Given the description of an element on the screen output the (x, y) to click on. 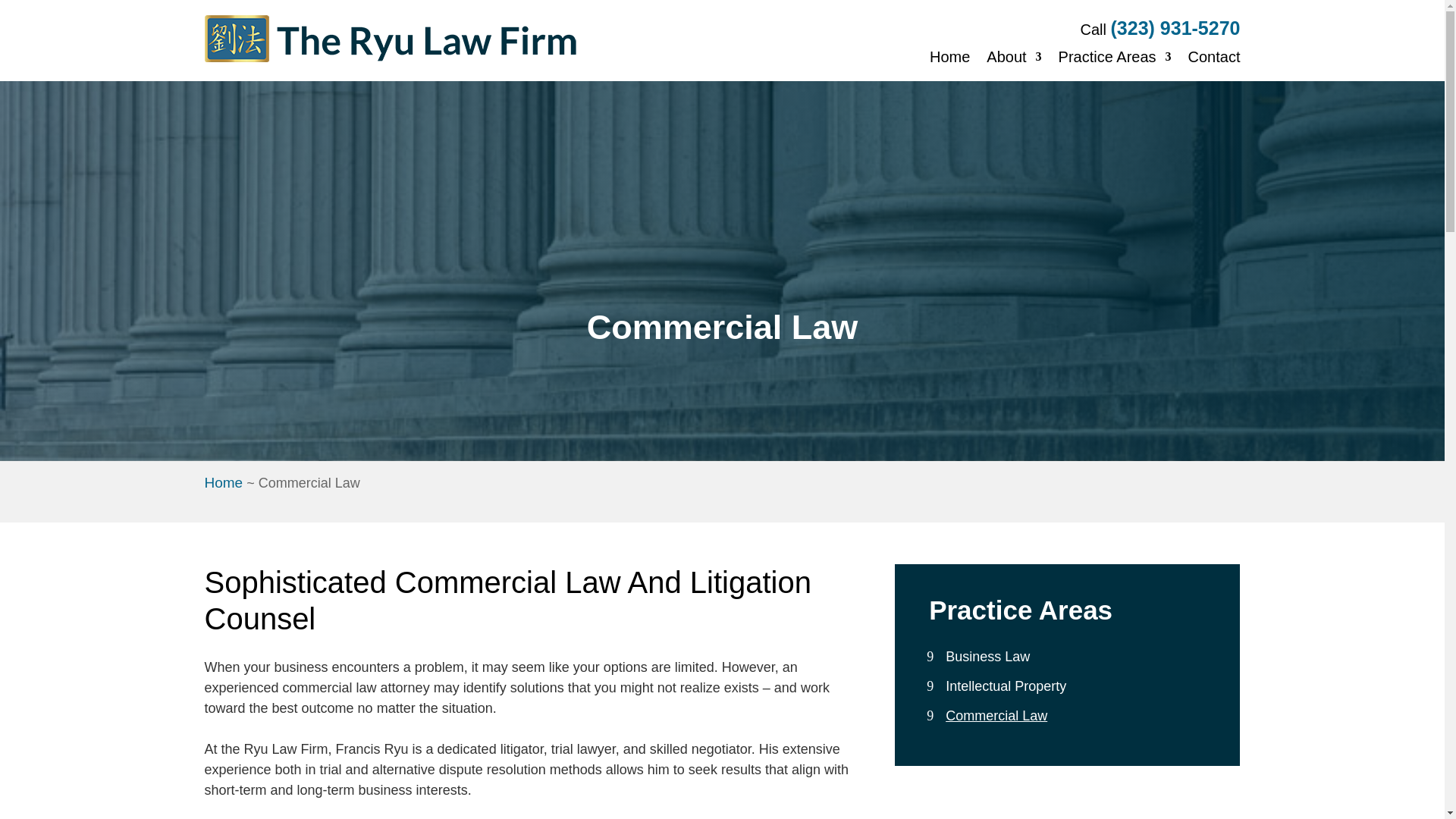
Intellectual Property (1004, 685)
Home (949, 56)
Commercial Law (995, 715)
About (1014, 56)
Practice Areas (1115, 56)
Business Law (986, 656)
Home (224, 482)
Contact (1214, 56)
brand-1 (391, 40)
